Given the description of an element on the screen output the (x, y) to click on. 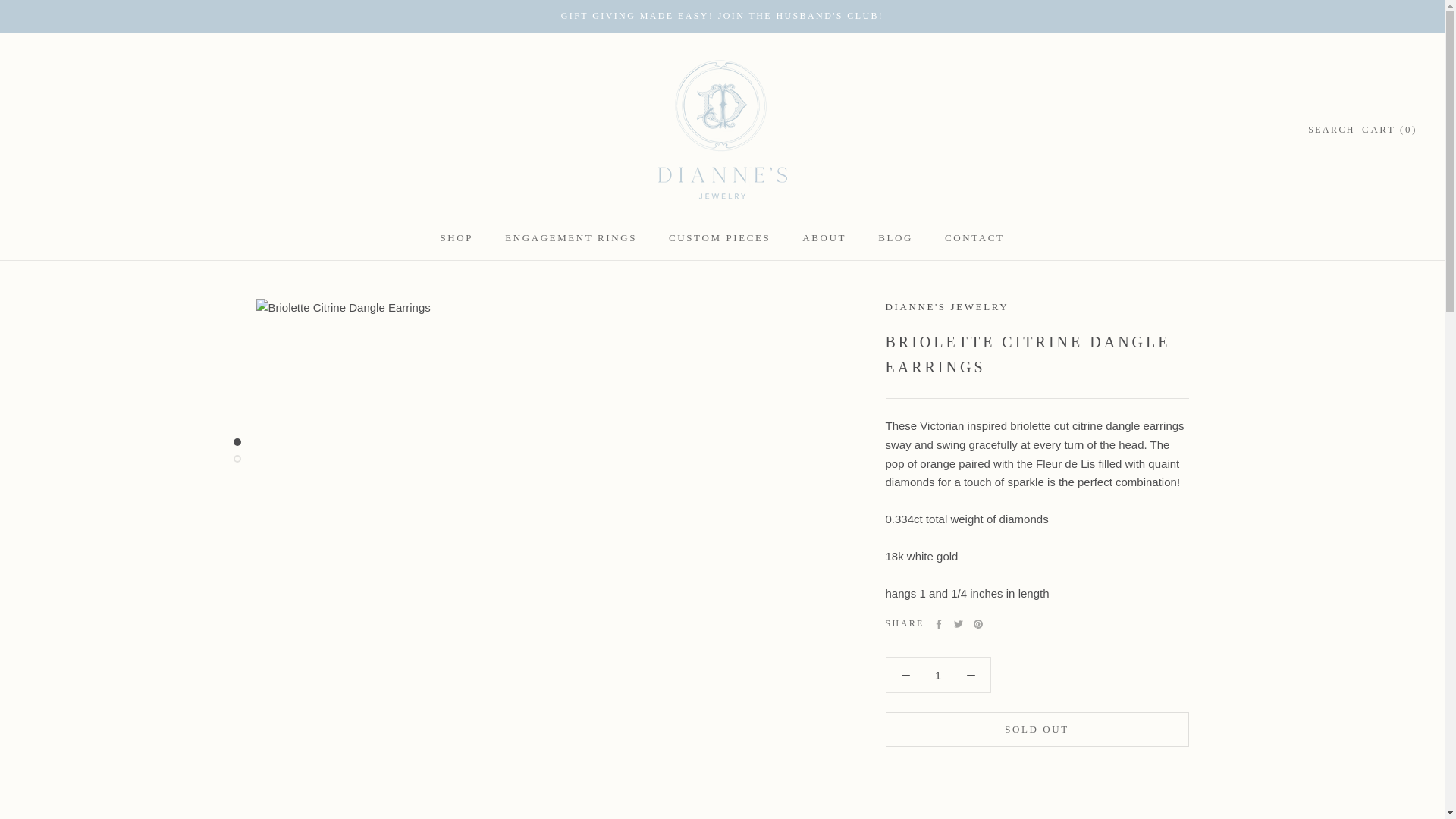
GIFT GIVING MADE EASY! JOIN THE HUSBAND'S CLUB! (719, 237)
SHOP (721, 15)
1 (456, 237)
SEARCH (974, 237)
